Given the description of an element on the screen output the (x, y) to click on. 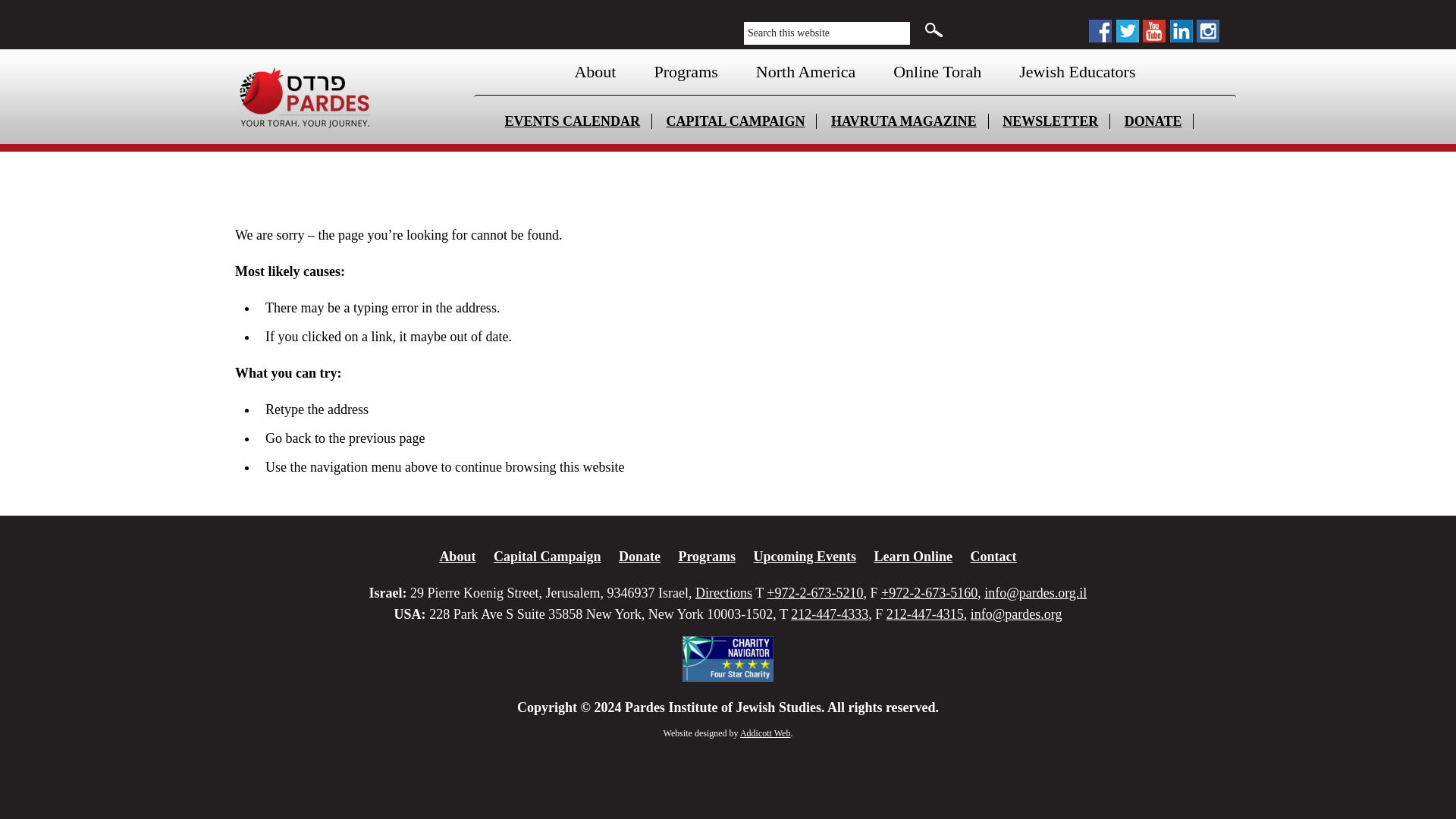
Search this website (826, 33)
North America (805, 72)
About (594, 72)
Programs (685, 72)
Search this website (826, 33)
Return to the homepage (346, 96)
Online Torah (937, 72)
